Given the description of an element on the screen output the (x, y) to click on. 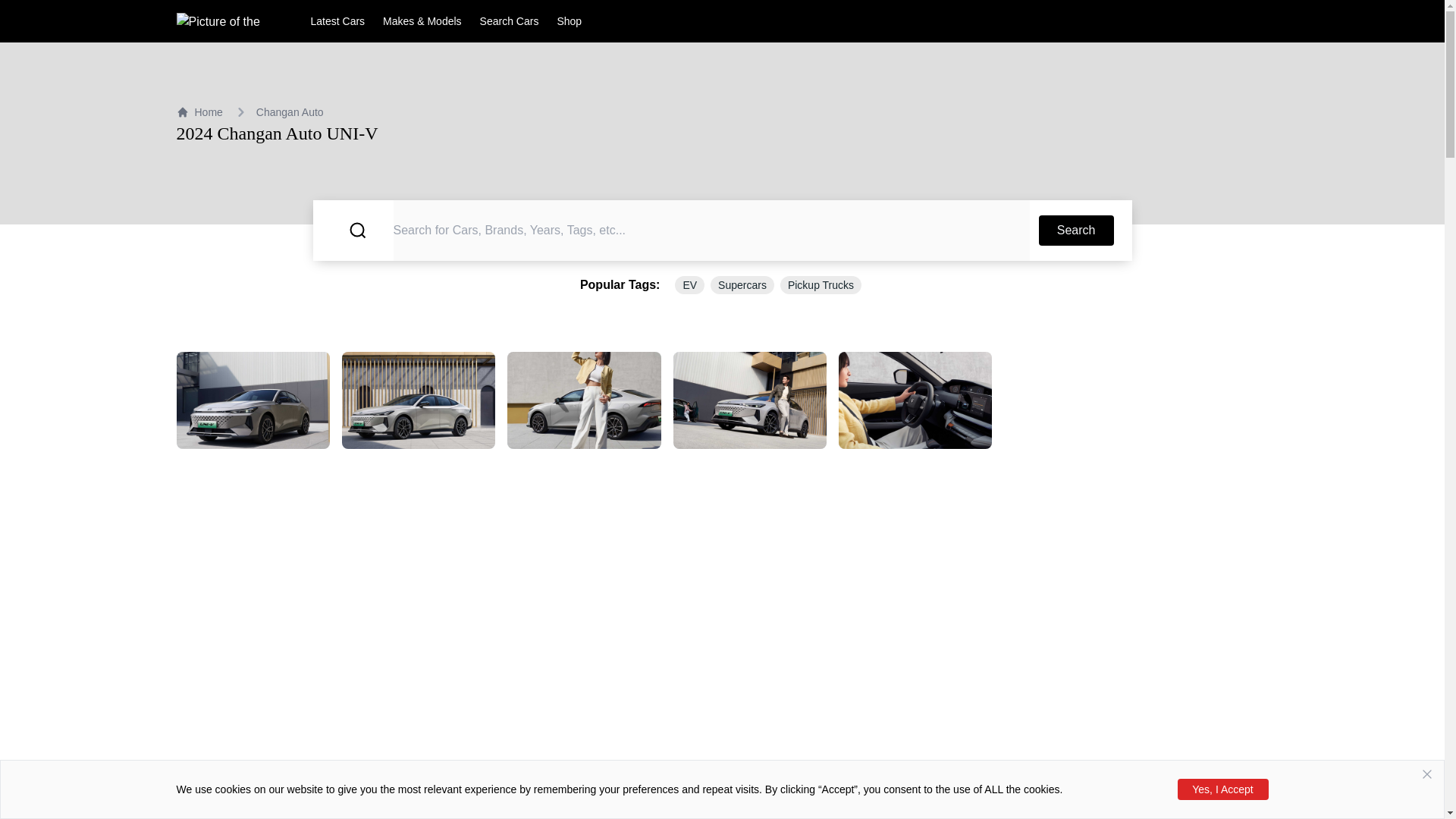
Latest Cars (338, 20)
Shop (568, 20)
Home (199, 111)
Search Cars (509, 20)
Changan Auto (289, 111)
Search (1076, 230)
